Given the description of an element on the screen output the (x, y) to click on. 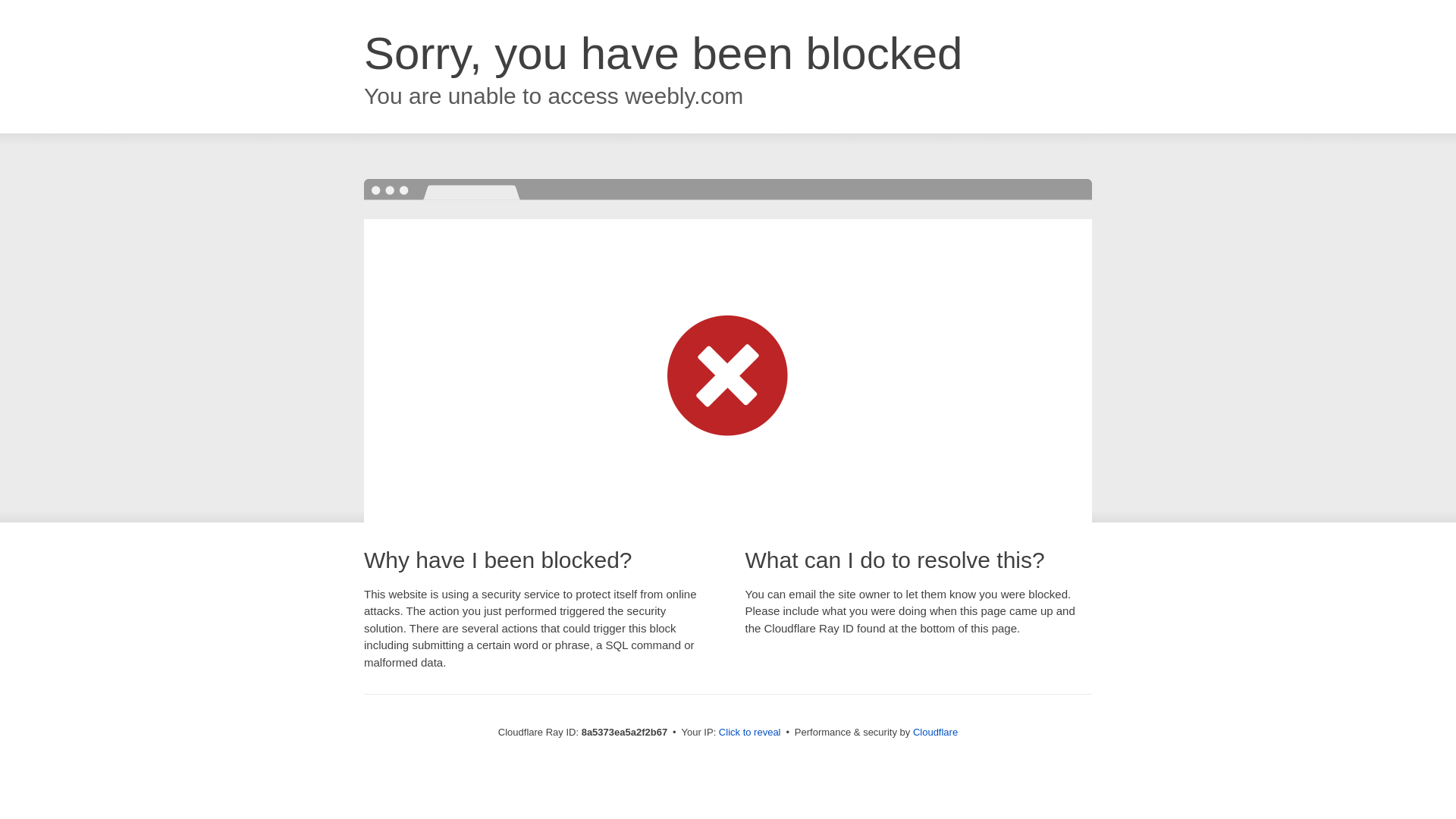
Cloudflare (935, 731)
Click to reveal (749, 732)
